Given the description of an element on the screen output the (x, y) to click on. 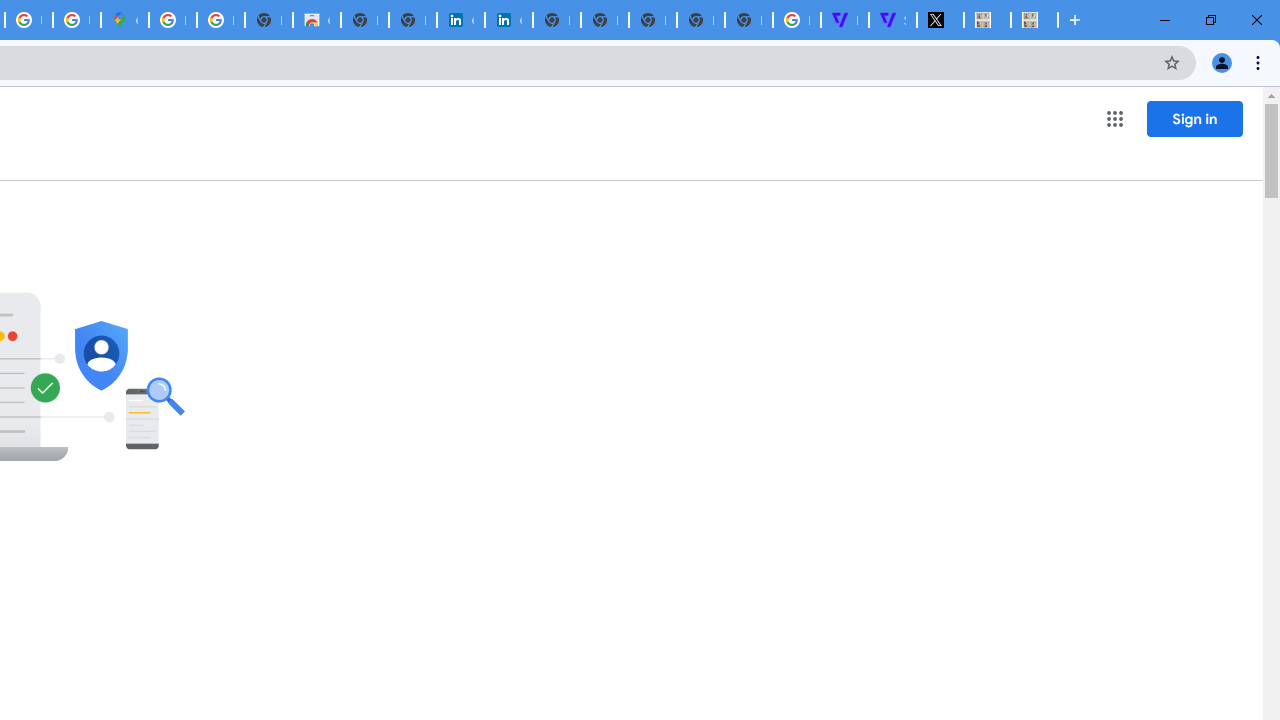
New Tab (748, 20)
Cookie Policy | LinkedIn (460, 20)
MILEY CYRUS. (987, 20)
Chrome Web Store (316, 20)
Google Maps (124, 20)
MILEY CYRUS. (1034, 20)
